Given the description of an element on the screen output the (x, y) to click on. 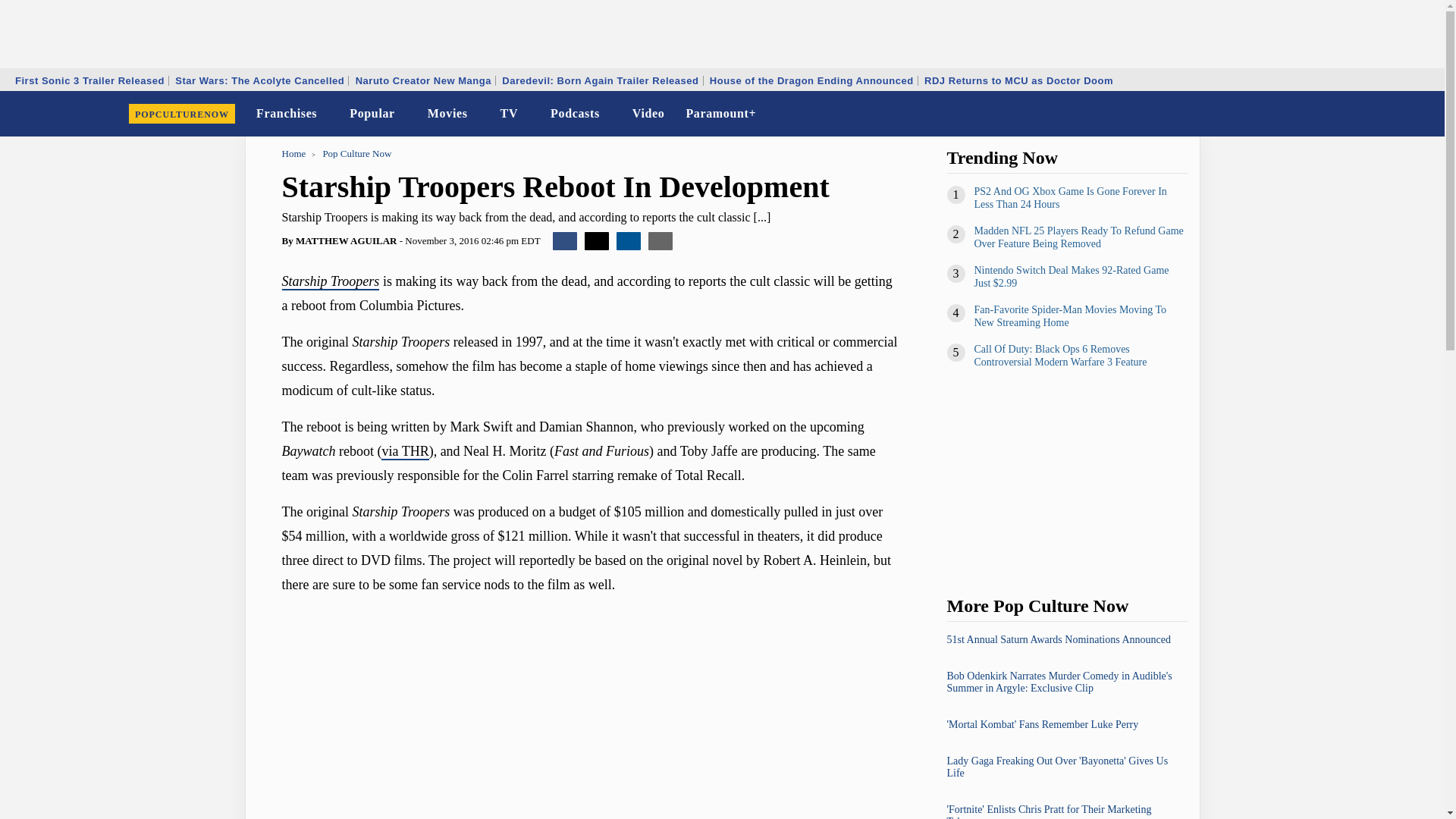
Daredevil: Born Again Trailer Released (599, 80)
Dark Mode (1394, 113)
Search (1422, 114)
POPCULTURENOW (181, 113)
Popular (372, 113)
Movies (448, 113)
Star Wars: The Acolyte Cancelled (259, 80)
Podcasts (574, 113)
Naruto Creator New Manga (423, 80)
House of the Dragon Ending Announced (811, 80)
